Given the description of an element on the screen output the (x, y) to click on. 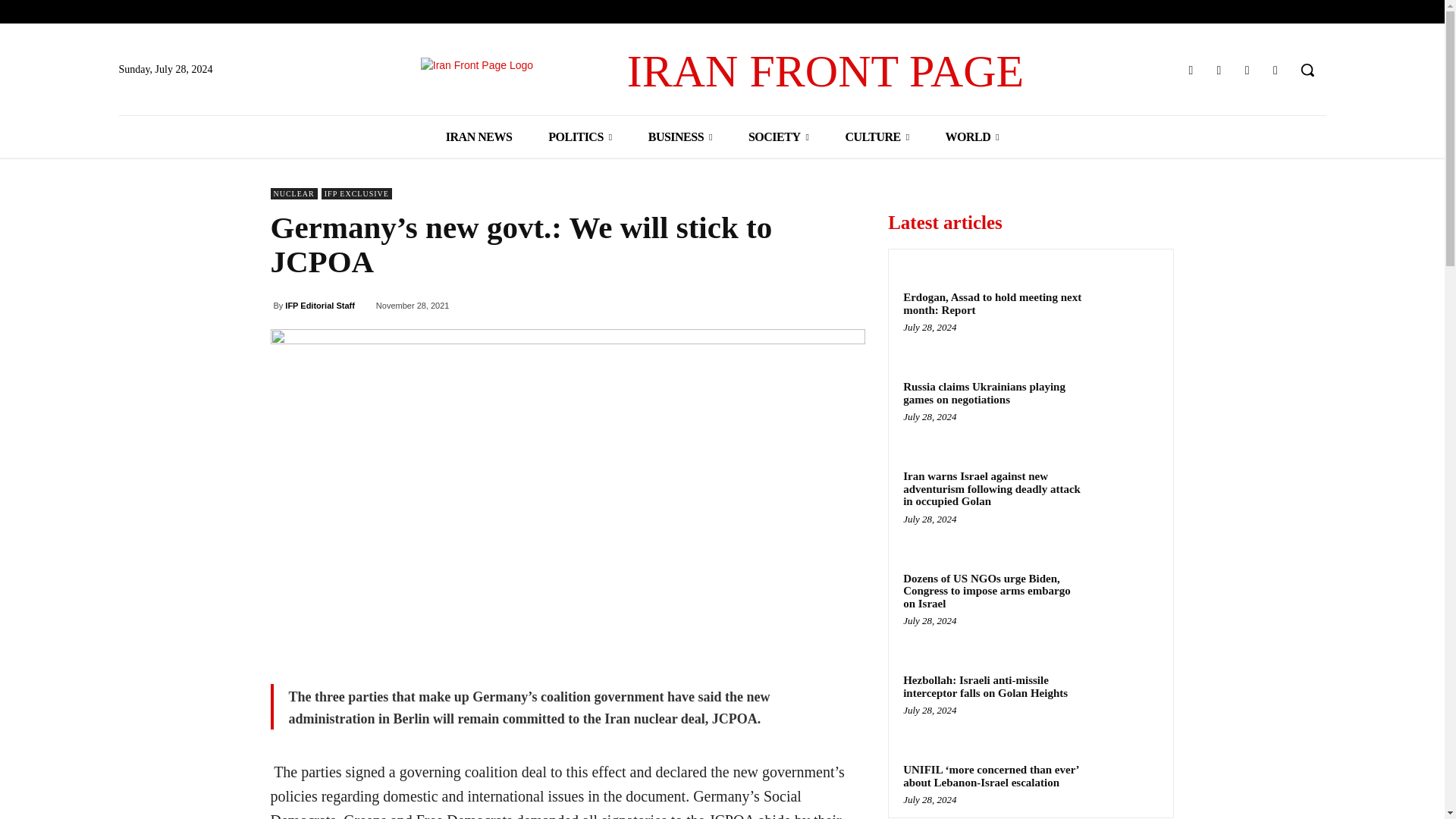
Iran Front Page Logo (523, 71)
Facebook (1190, 69)
Iran Front Page Logo (721, 70)
